Given the description of an element on the screen output the (x, y) to click on. 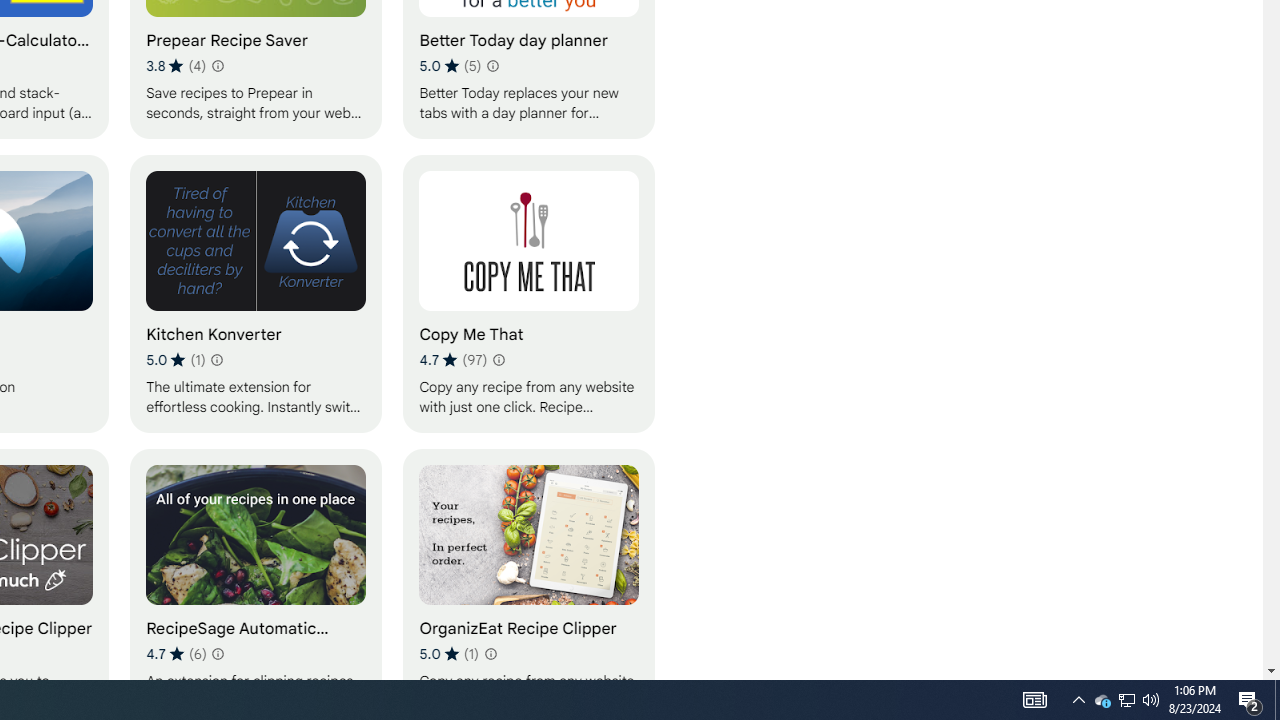
Learn more about results and reviews "Copy Me That" (498, 359)
Learn more about results and reviews "Kitchen Konverter" (216, 359)
Learn more about results and reviews "Prepear Recipe Saver" (216, 65)
Average rating 4.7 out of 5 stars. 6 ratings. (176, 653)
Average rating 5 out of 5 stars. 1 rating. (448, 653)
Average rating 3.8 out of 5 stars. 4 ratings. (176, 66)
Kitchen Konverter (256, 293)
Copy Me That (529, 293)
Average rating 5 out of 5 stars. 5 ratings. (450, 66)
Average rating 4.7 out of 5 stars. 97 ratings. (452, 359)
